Given the description of an element on the screen output the (x, y) to click on. 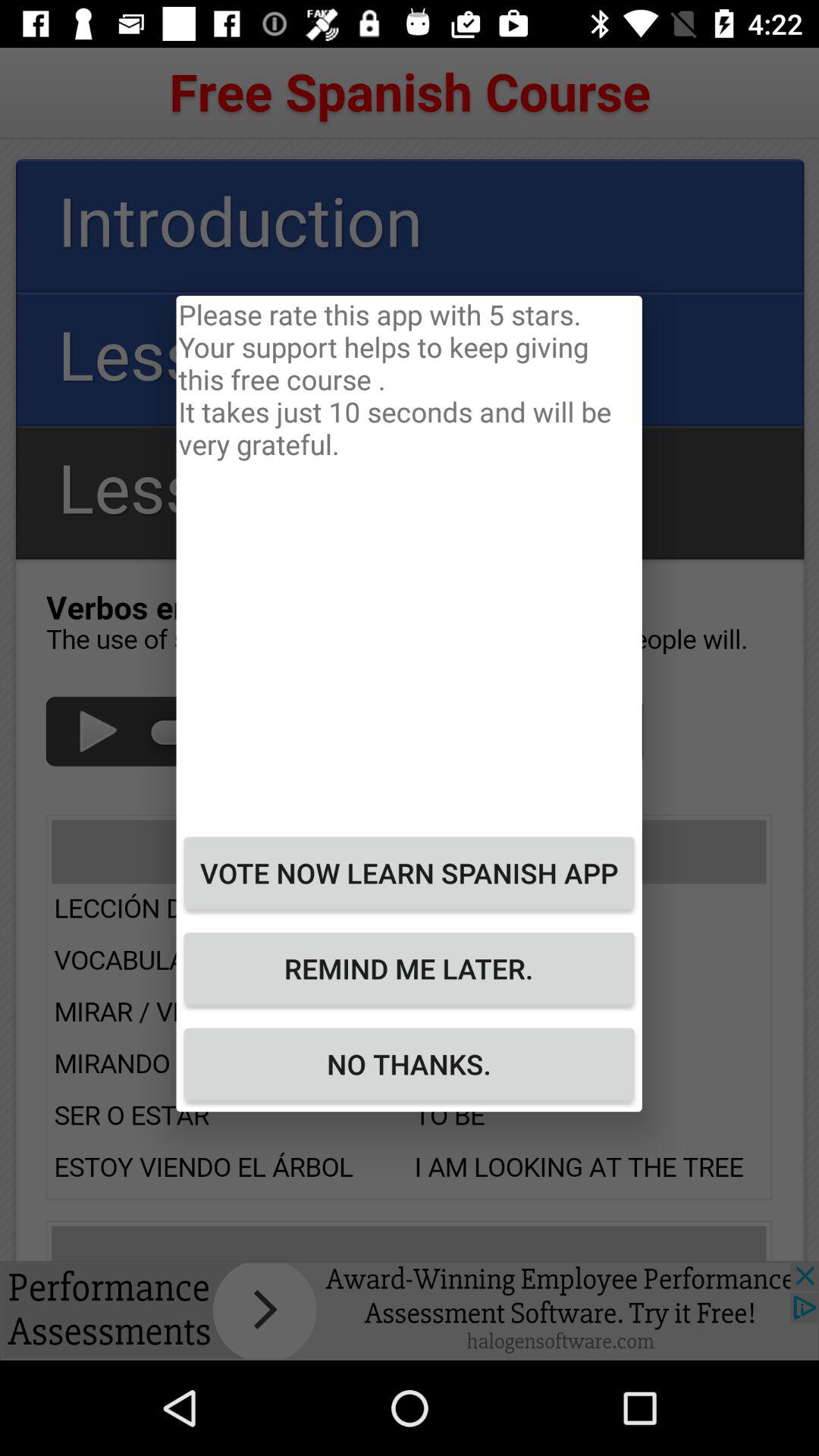
press button below remind me later. button (409, 1063)
